Given the description of an element on the screen output the (x, y) to click on. 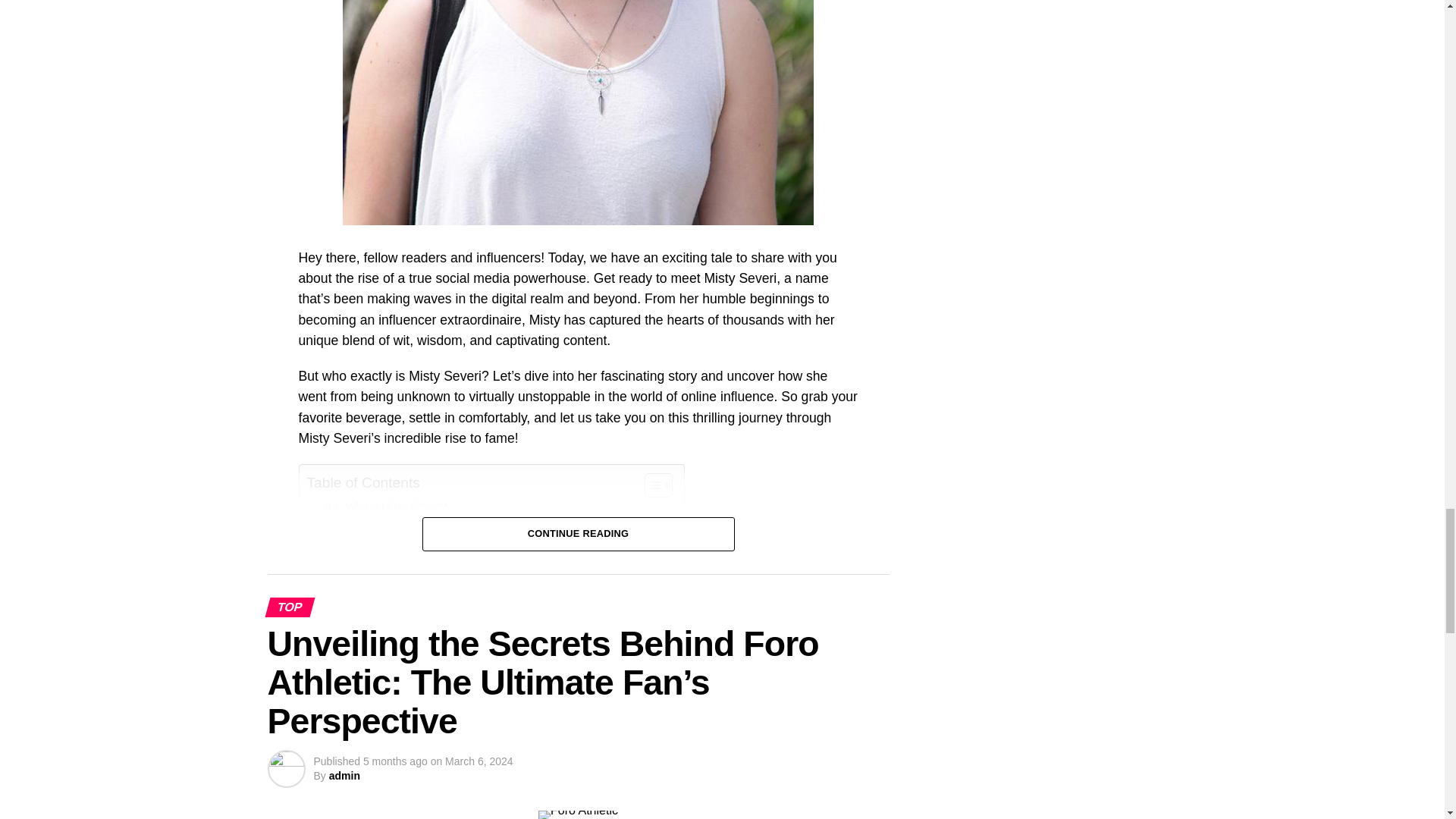
Who is Misty Severi? (385, 506)
